Given the description of an element on the screen output the (x, y) to click on. 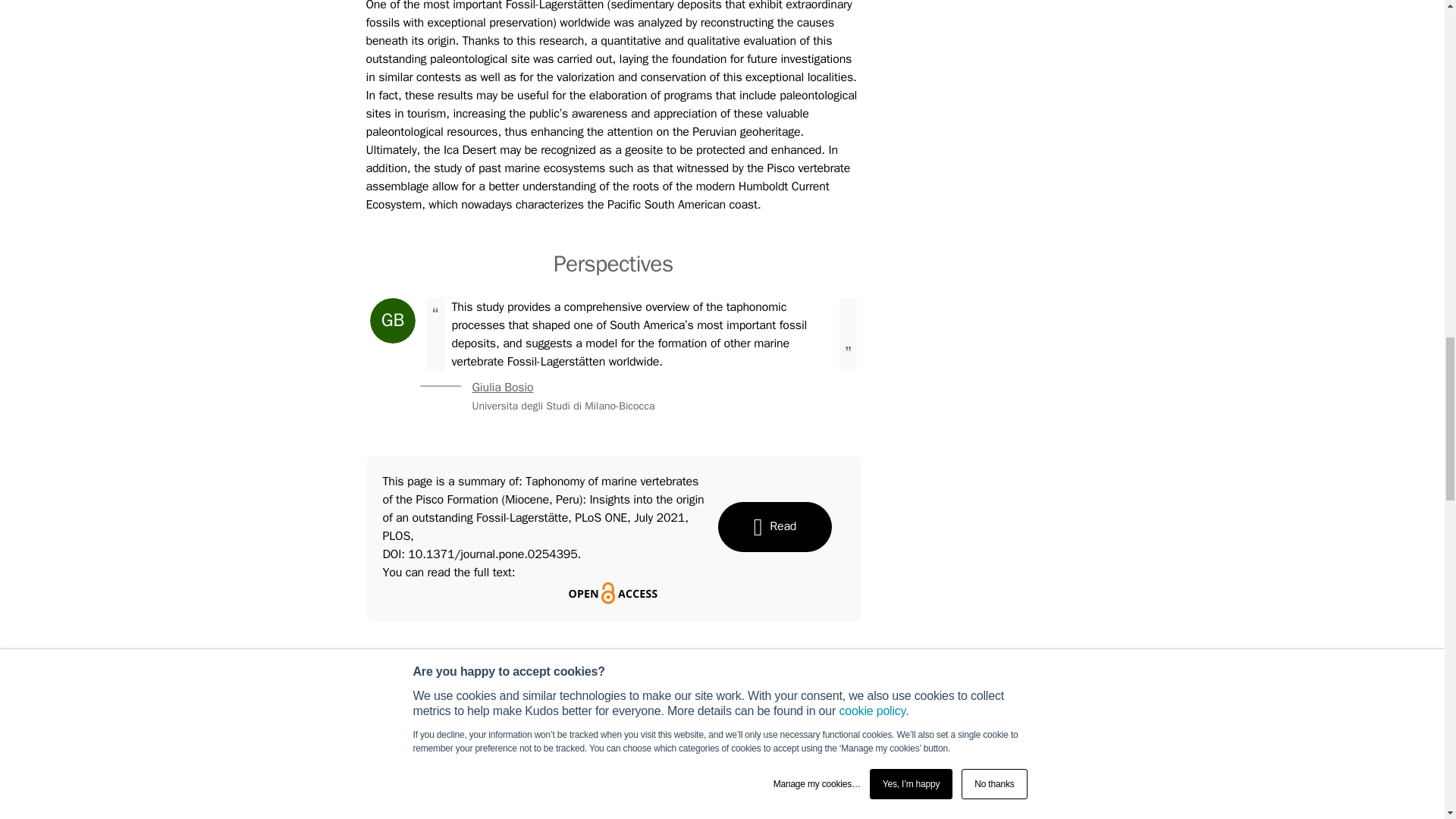
Giulia Bosio (501, 387)
Read (774, 527)
